Given the description of an element on the screen output the (x, y) to click on. 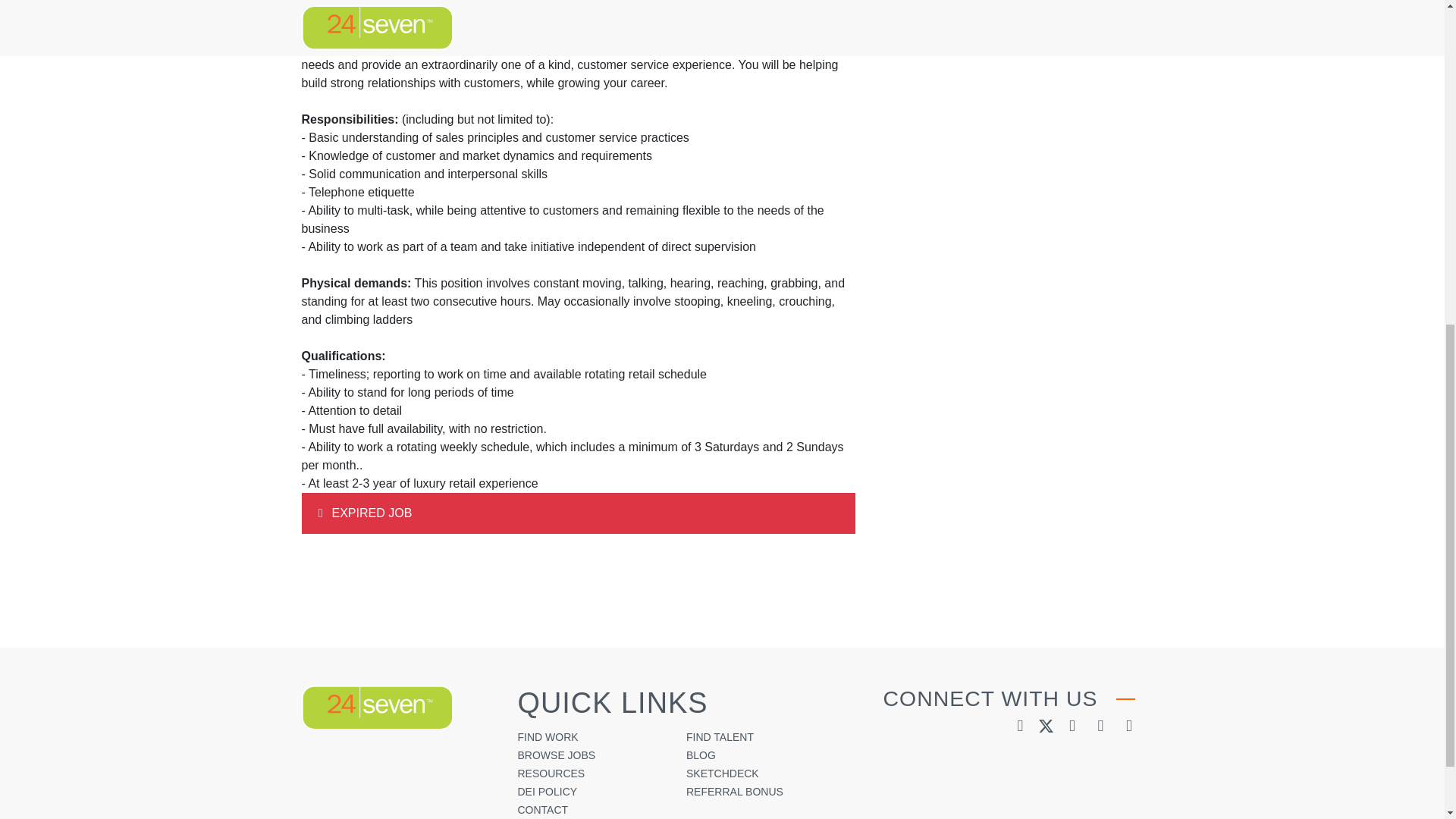
Facebook (1071, 725)
BROWSE JOBS (555, 755)
RESOURCES (550, 773)
LinkedIn (1020, 725)
Youtube (1100, 725)
FIND WORK (547, 736)
CONTACT (541, 809)
BLOG (700, 755)
REFERRAL BONUS (734, 791)
Instagram (1128, 725)
